Given the description of an element on the screen output the (x, y) to click on. 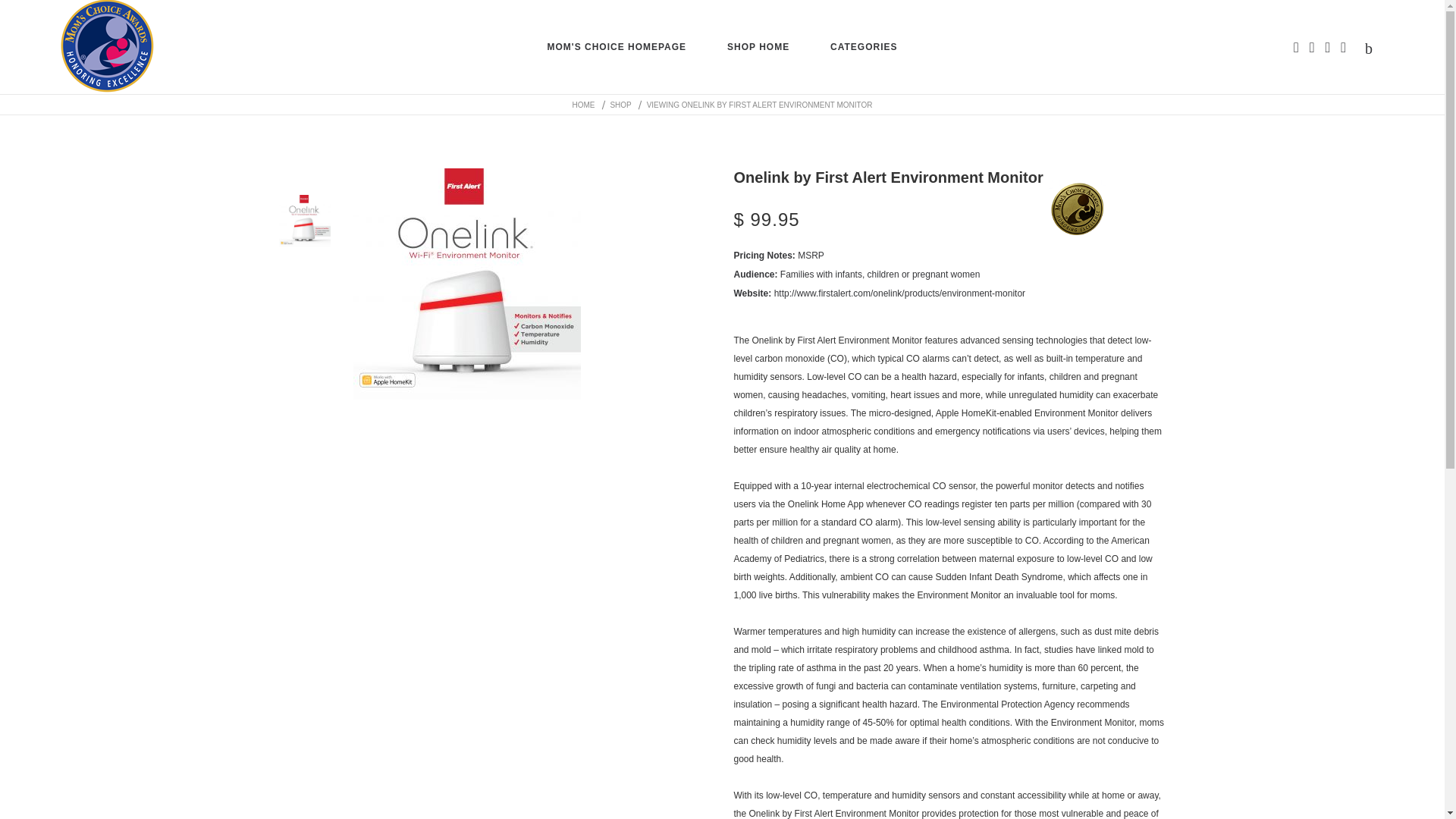
CATEGORIES (862, 46)
MCA Gold Award (1076, 208)
SHOP HOME (757, 46)
MOM'S CHOICE HOMEPAGE (615, 46)
